Given the description of an element on the screen output the (x, y) to click on. 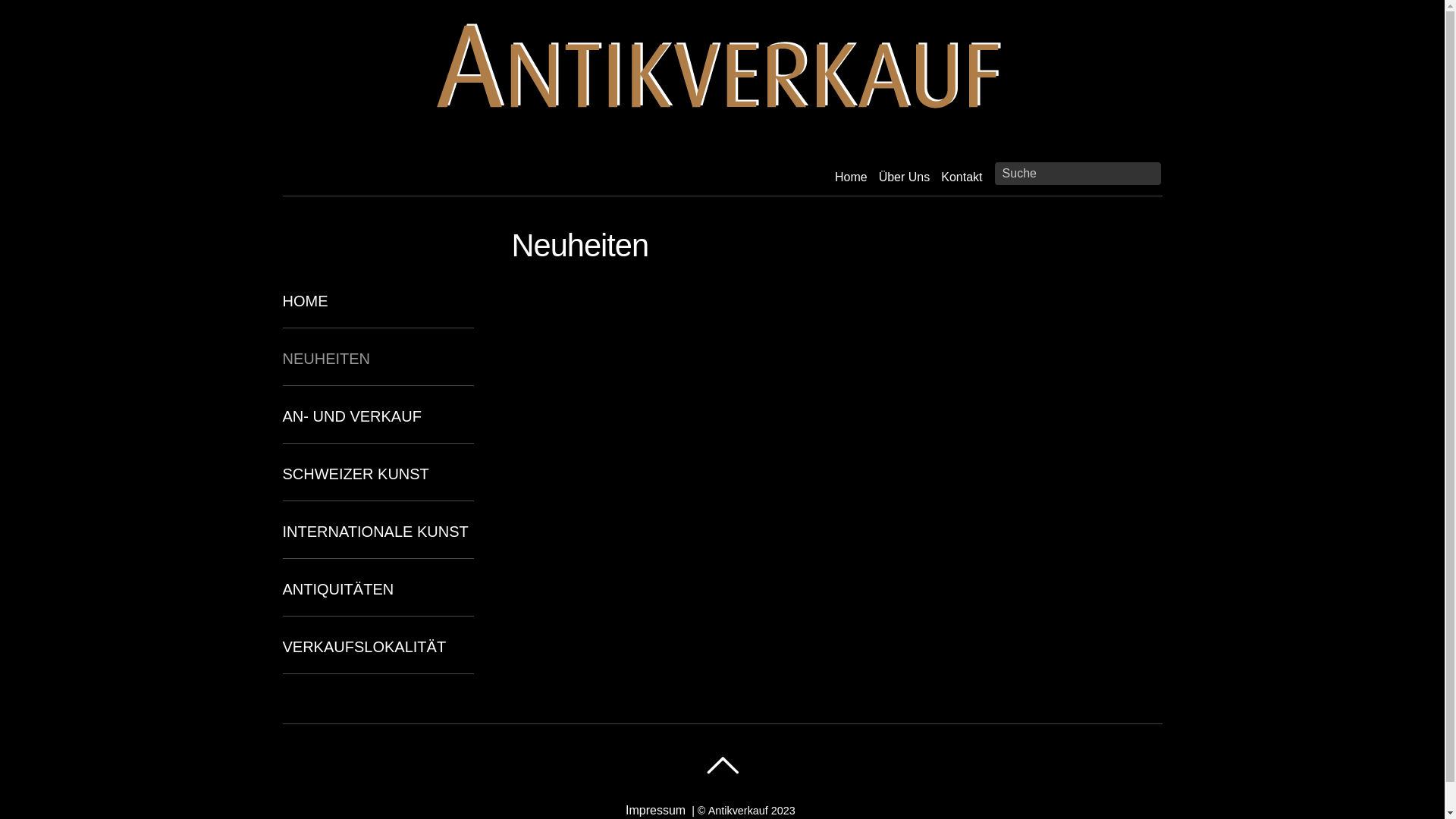
INTERNATIONALE KUNST Element type: text (377, 541)
Impressum Element type: text (655, 809)
AN- UND VERKAUF Element type: text (377, 425)
Nach oben Element type: hover (721, 764)
NEUHEITEN Element type: text (377, 368)
Home Element type: text (850, 176)
Antikverkauf Element type: hover (722, 70)
Kontakt Element type: text (961, 176)
HOME Element type: text (377, 310)
Antikverkauf Element type: hover (722, 128)
SCHWEIZER KUNST Element type: text (377, 483)
Antikverkauf Element type: text (738, 810)
